Given the description of an element on the screen output the (x, y) to click on. 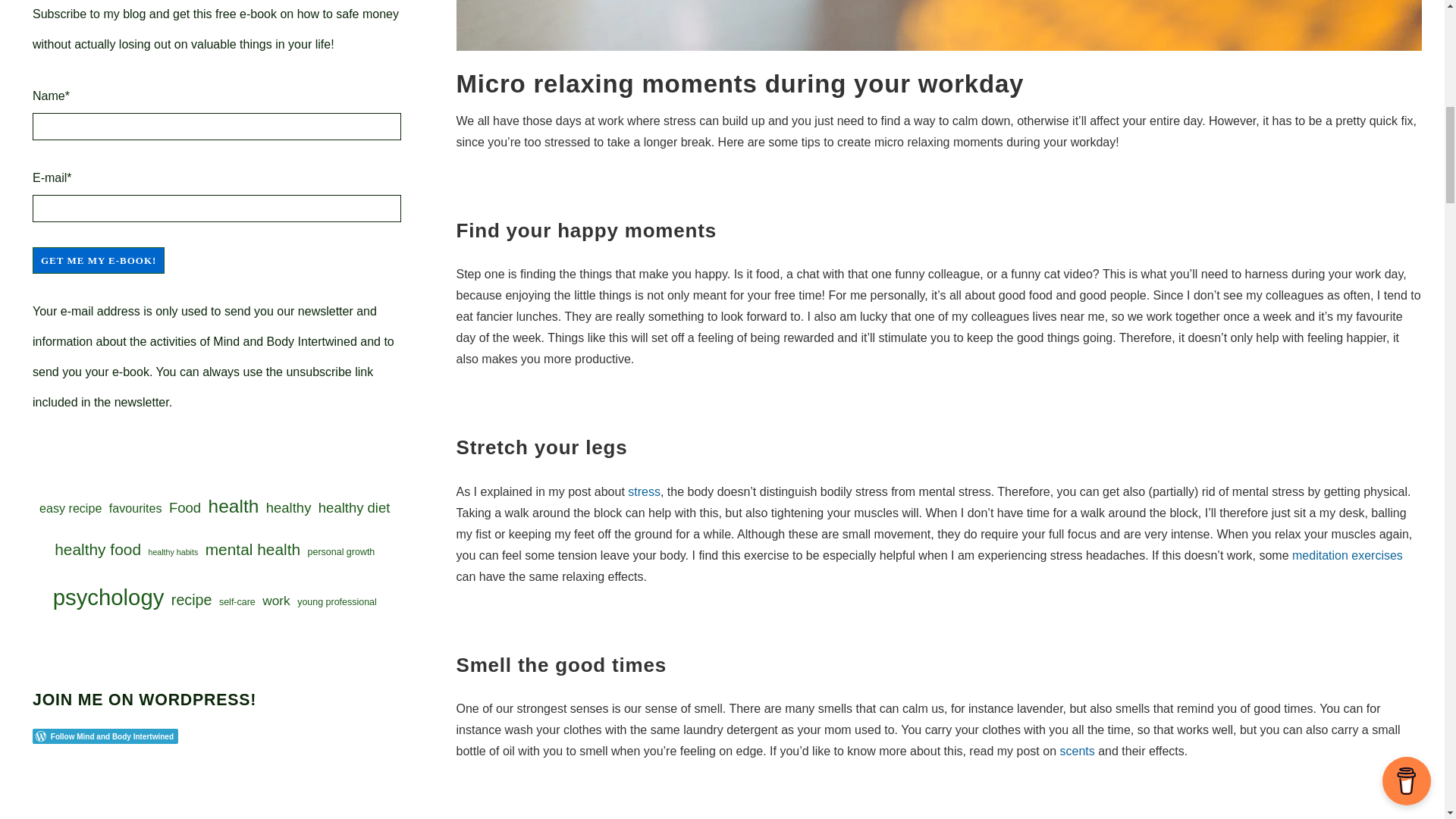
scents (1076, 750)
meditation exercises (1347, 554)
stress (644, 491)
Get me my e-book! (98, 260)
